Given the description of an element on the screen output the (x, y) to click on. 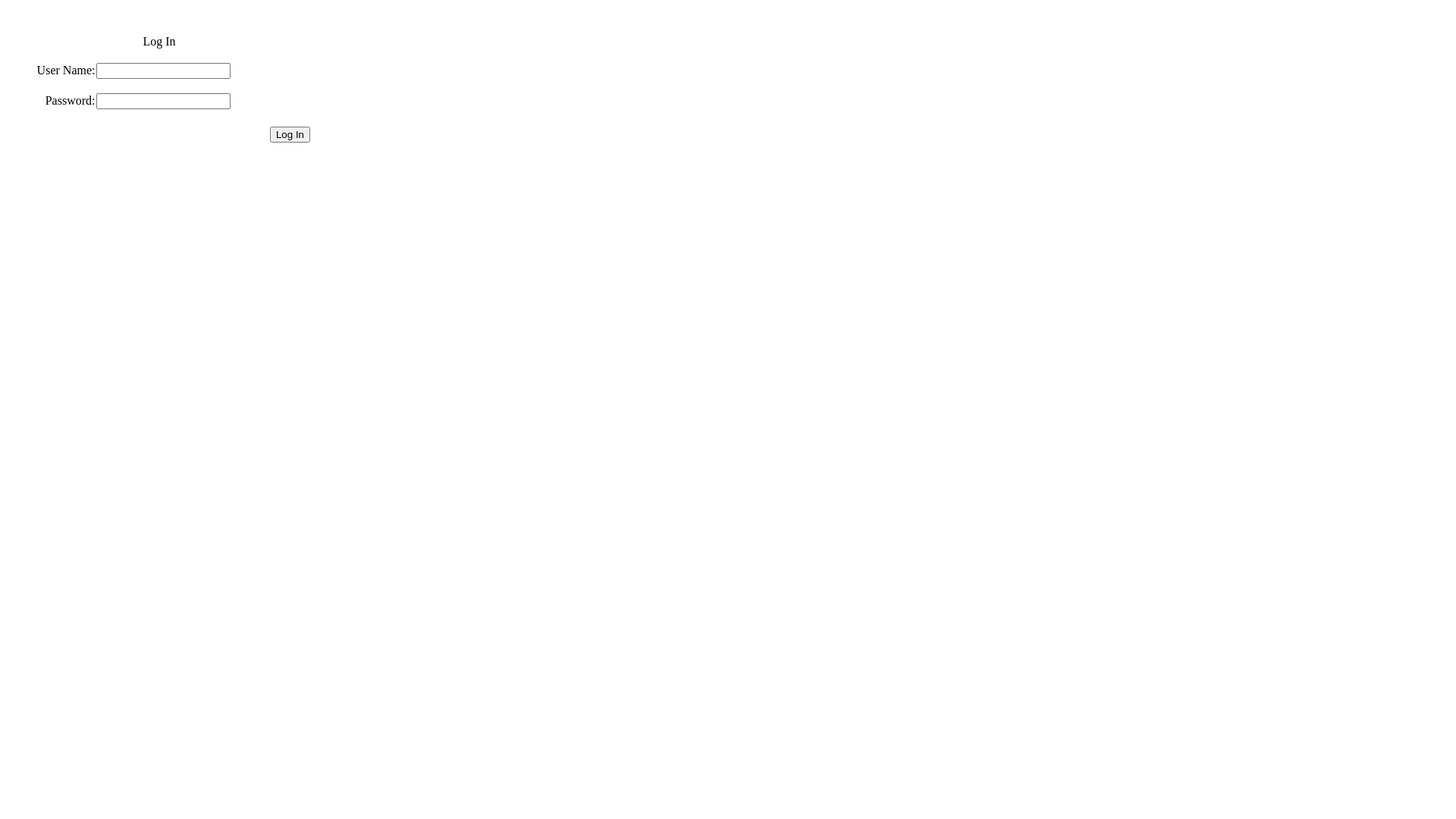
Log In Element type: text (289, 134)
